Given the description of an element on the screen output the (x, y) to click on. 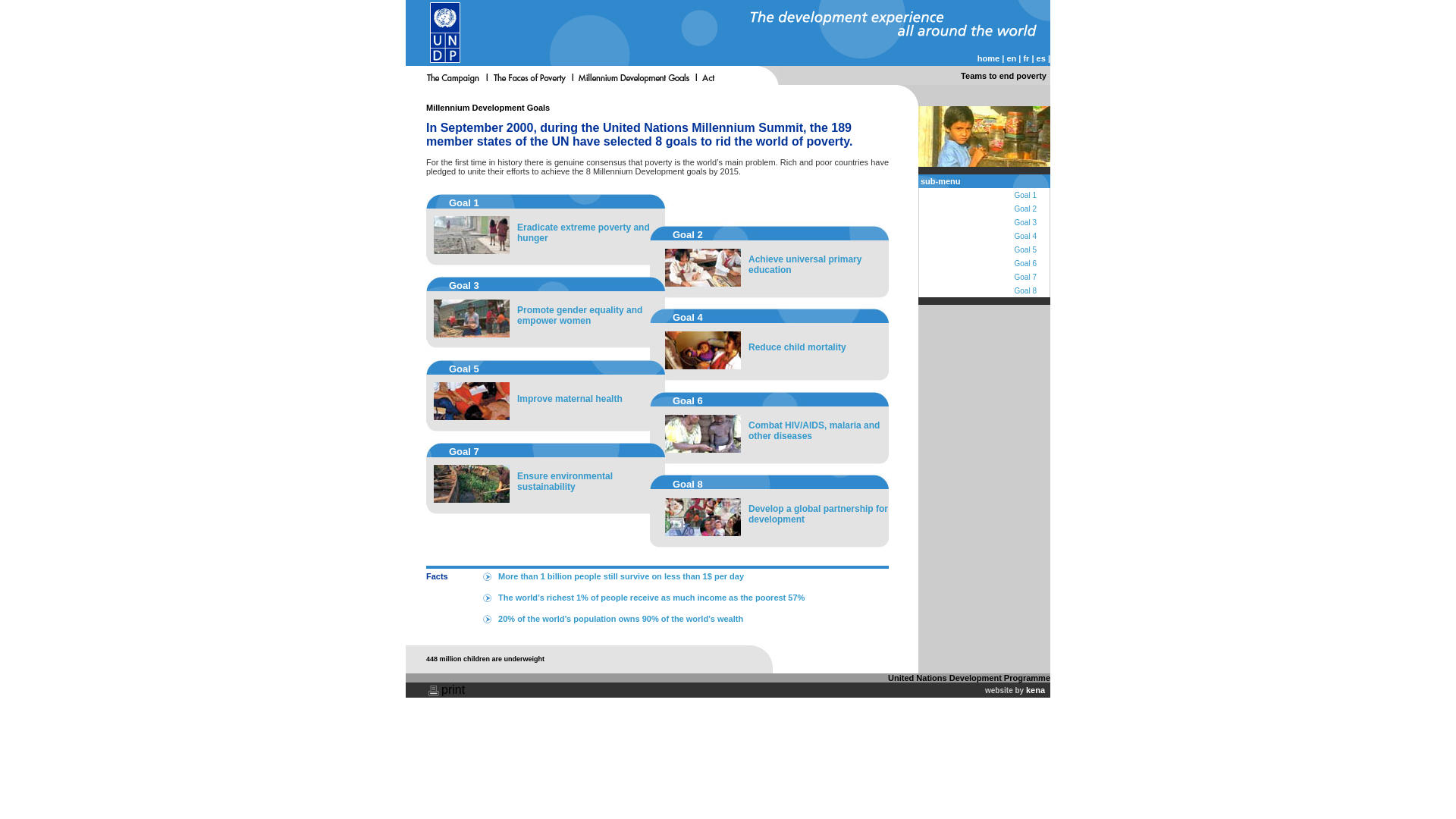
Goal 3 (1025, 222)
home (987, 57)
Goal 7 (1025, 276)
Goal 6 (1025, 263)
Goal 1 (1025, 194)
Goal 2 (1025, 208)
es (1040, 57)
print (452, 689)
Goal 5 (1025, 249)
kena (1035, 689)
Goal 4 (1025, 235)
en (1011, 57)
Goal 8 (1025, 290)
